Given the description of an element on the screen output the (x, y) to click on. 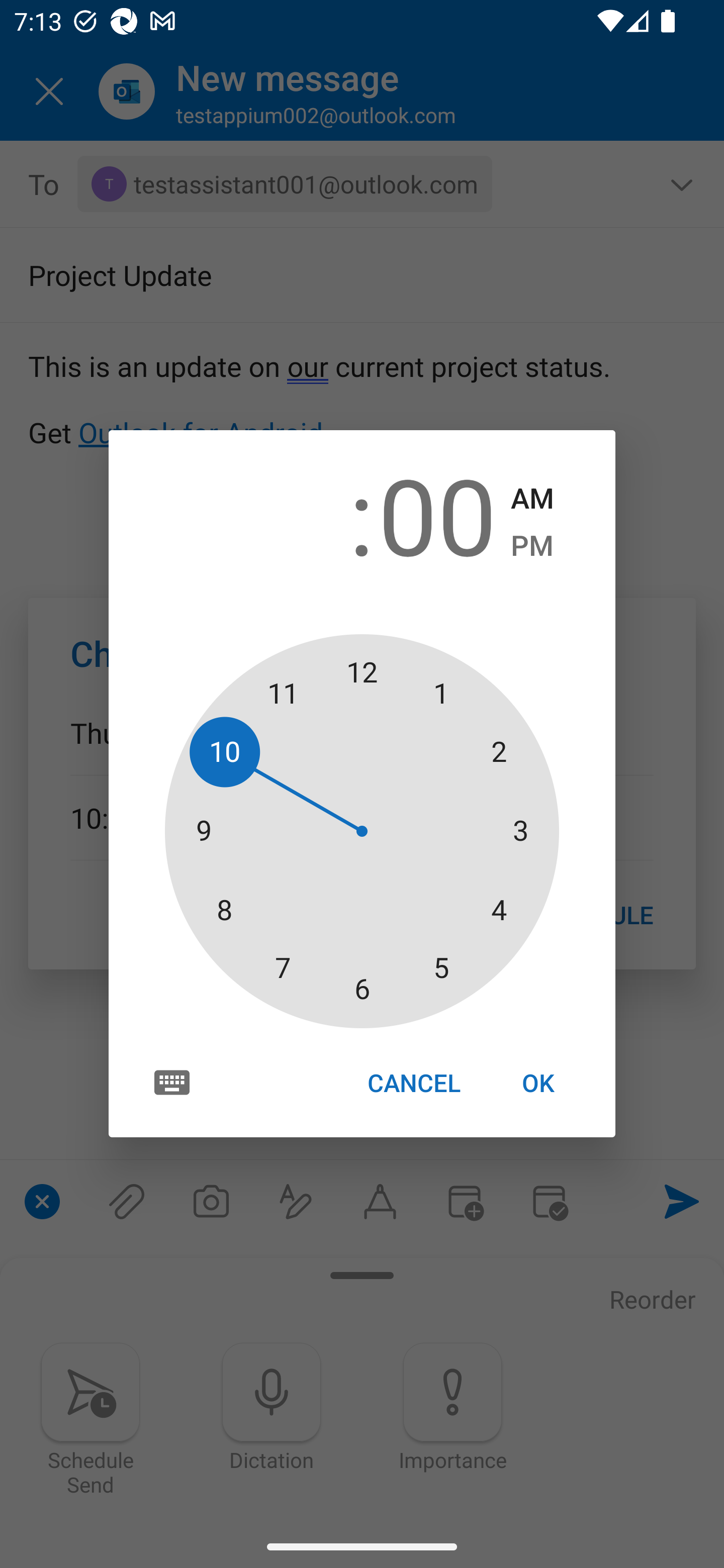
10 (285, 513)
00 (436, 513)
AM (532, 498)
PM (532, 546)
CANCEL (413, 1082)
OK (537, 1082)
Switch to text input mode for the time input. (171, 1081)
